Given the description of an element on the screen output the (x, y) to click on. 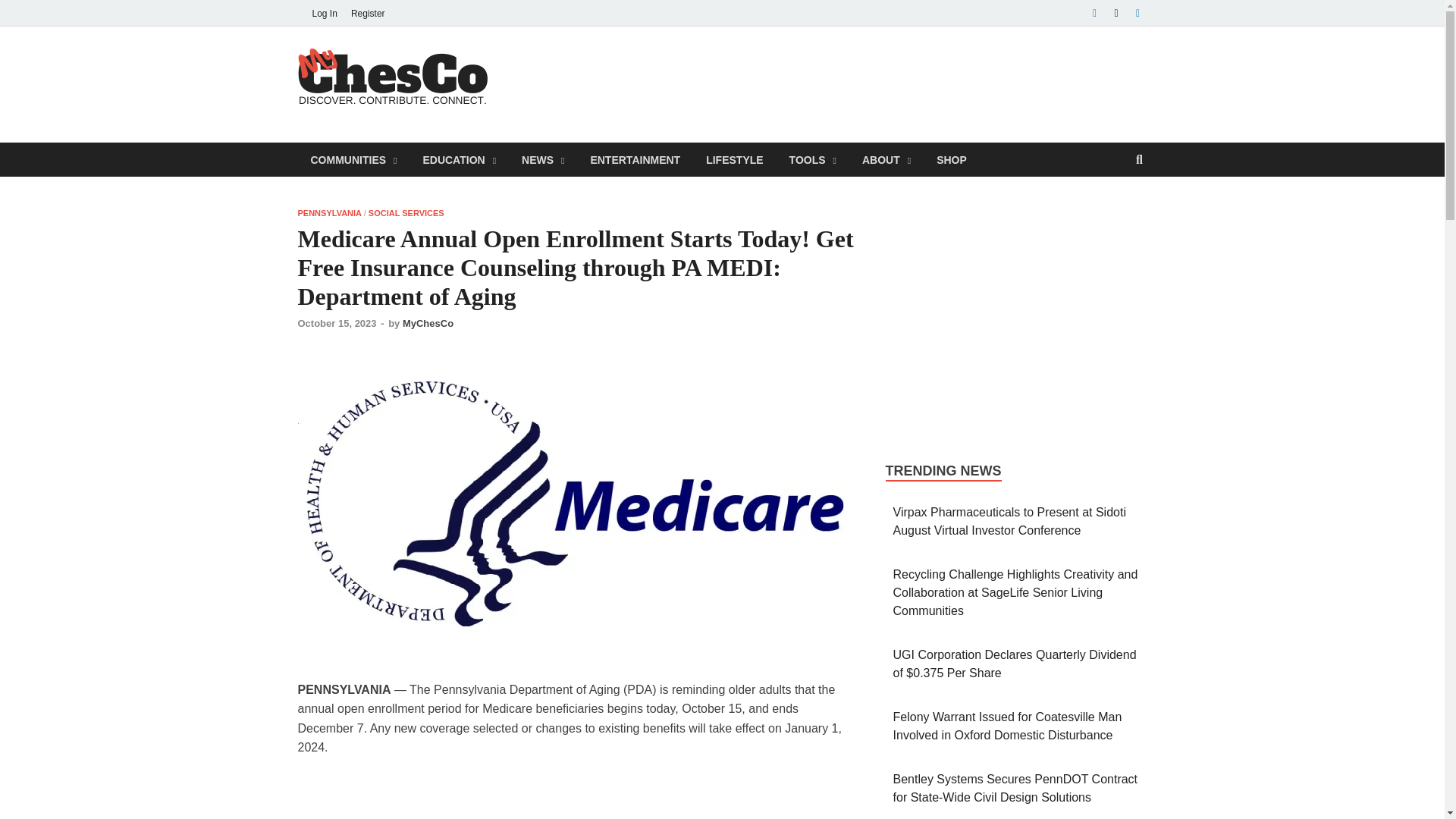
Log In (323, 13)
COMMUNITIES (353, 159)
MyChesCo (569, 77)
MyChesCo Store (951, 159)
Advertisement (870, 81)
Register (367, 13)
EDUCATION (458, 159)
Advertisement (575, 797)
